Given the description of an element on the screen output the (x, y) to click on. 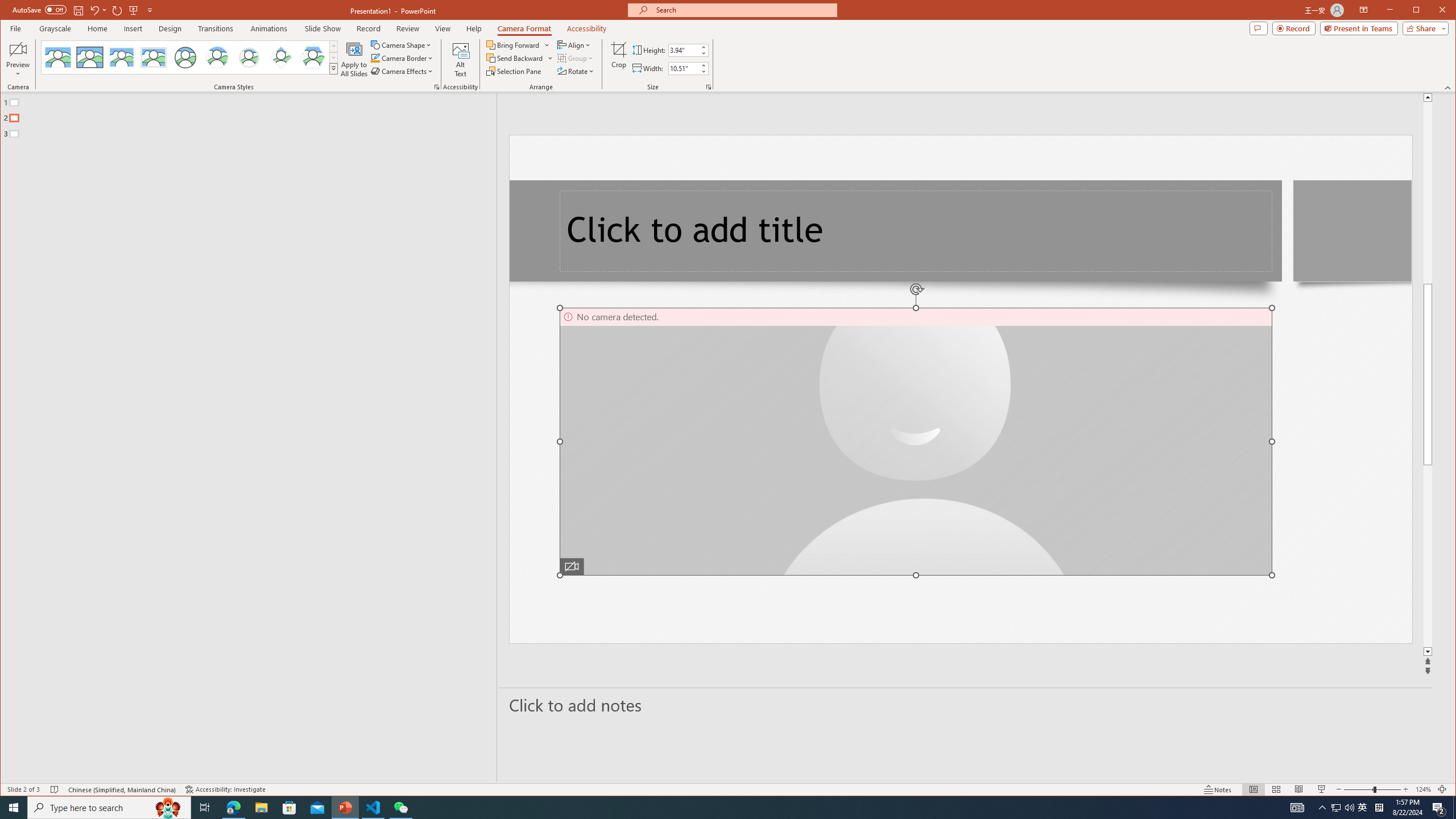
Soft Edge Rectangle (153, 57)
Selection Pane... (514, 70)
Simple Frame Circle (184, 57)
Camera 4, No camera detected. (915, 441)
Grayscale (55, 28)
